Given the description of an element on the screen output the (x, y) to click on. 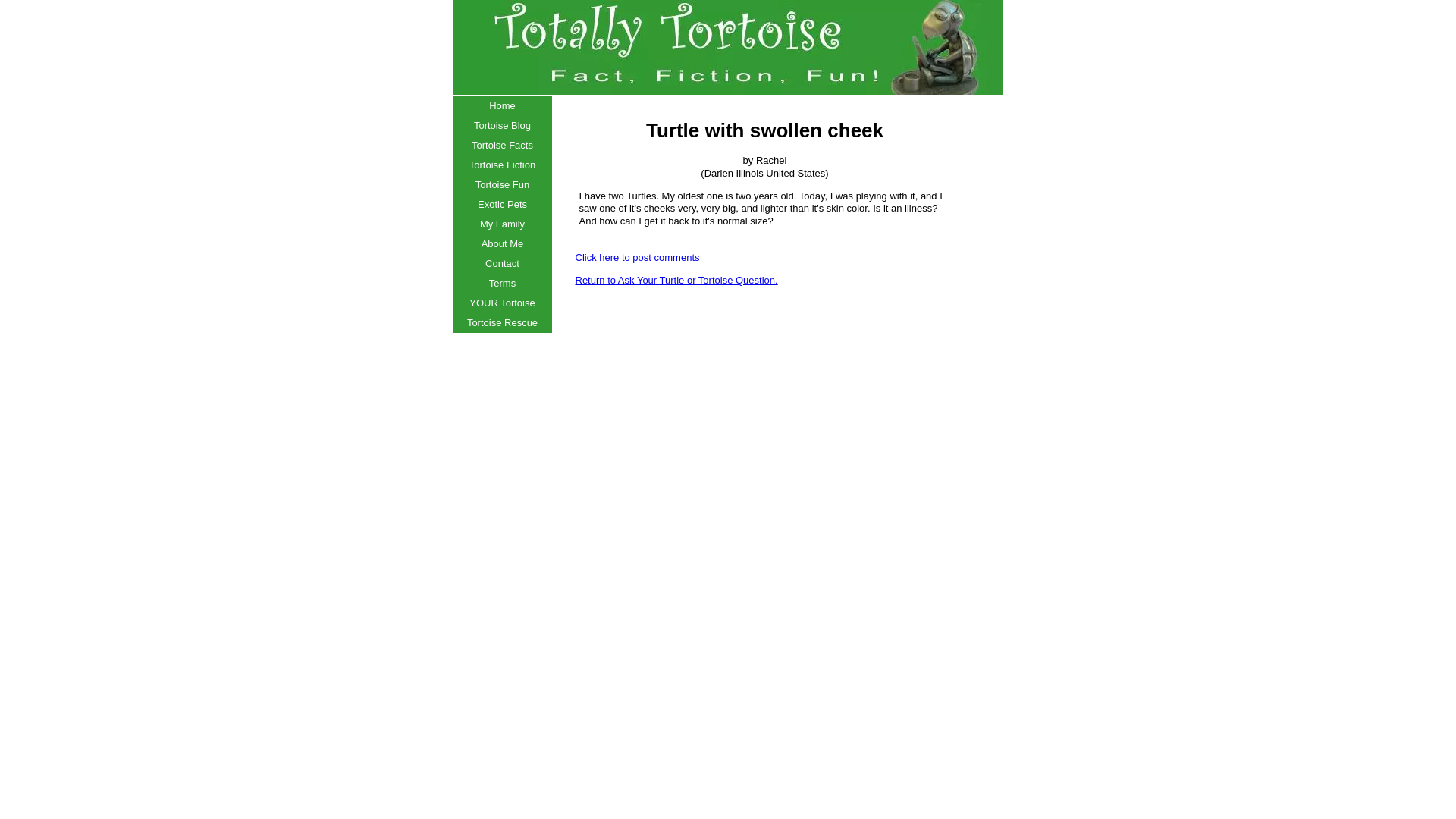
Return to Ask Your Turtle or Tortoise Question. (676, 279)
Click here to post comments (636, 256)
About Me (501, 243)
Tortoise Fiction (501, 165)
Tortoise Fun (501, 184)
Tortoise Blog (501, 125)
Terms (501, 283)
Home (501, 106)
My Family (501, 224)
Tortoise Rescue (501, 322)
